Given the description of an element on the screen output the (x, y) to click on. 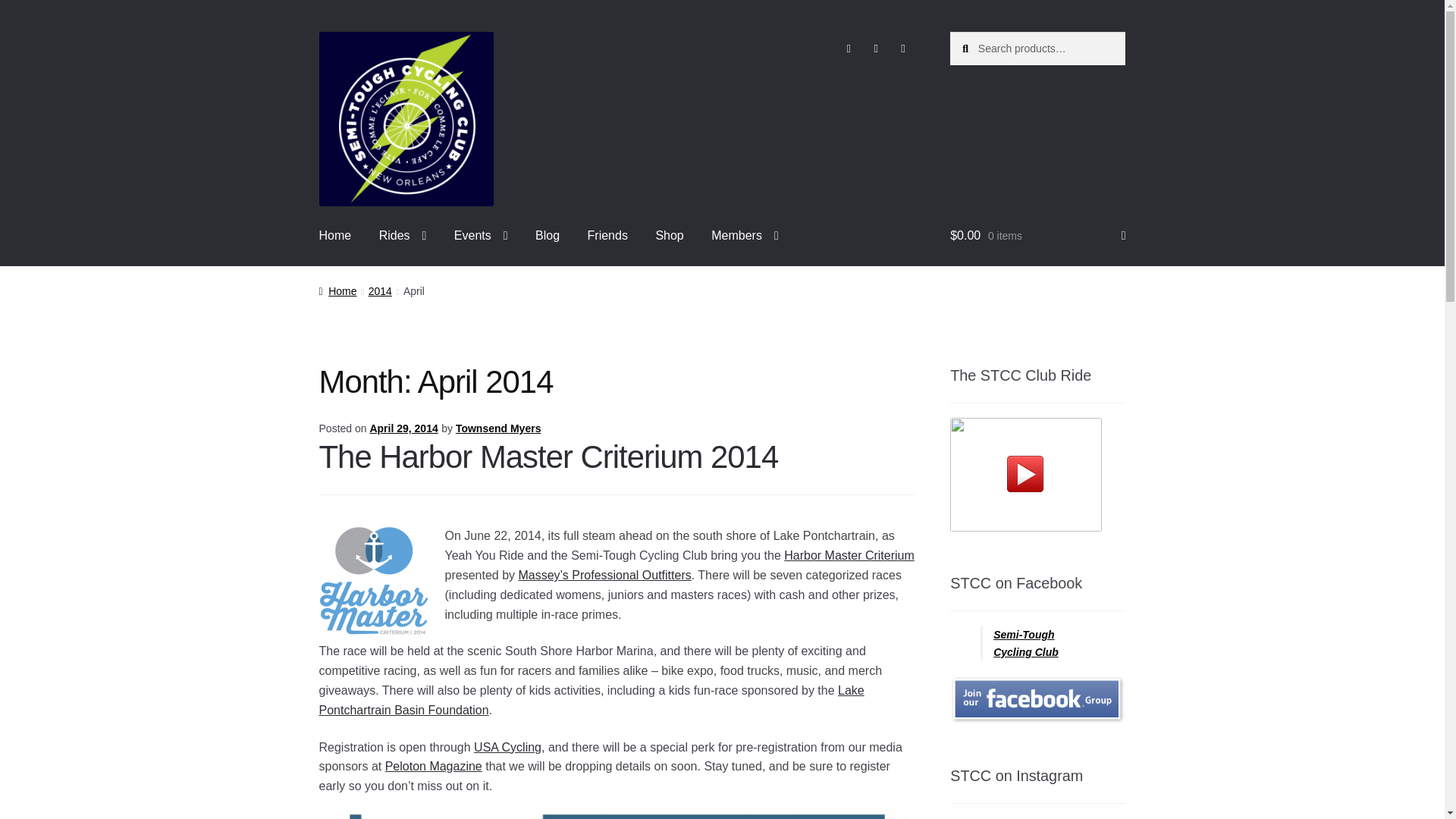
LPBF (591, 699)
Events (480, 235)
Members (744, 235)
Home (335, 235)
Facebook (847, 48)
Semi-Tough Cycling Club (405, 118)
Strava (903, 48)
Peloton Magazine (433, 766)
Instagram (875, 48)
Harbor Master 2014 Registration (507, 747)
Blog (547, 235)
View your shopping cart (1037, 235)
Rides (402, 235)
